Given the description of an element on the screen output the (x, y) to click on. 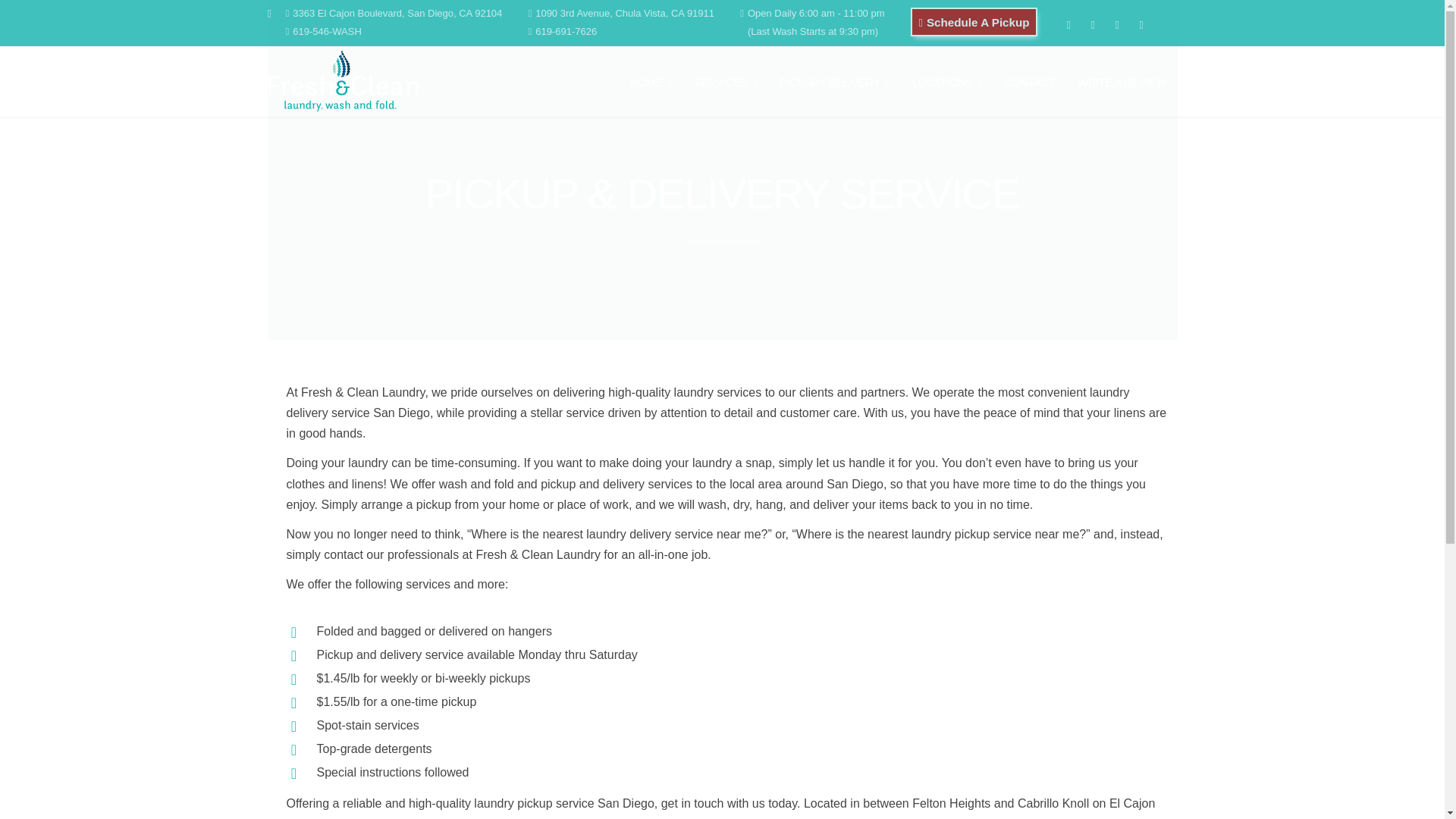
Schedule A Pickup (974, 21)
SERVICES (725, 80)
LOCATIONS (946, 80)
WRITE A REVIEW (1122, 80)
3363 El Cajon Boulevard, San Diego, CA 92104 (397, 12)
1090 3rd Avenue, Chula Vista, CA 91911 (624, 12)
linkedin (1123, 24)
CONTACT (1029, 80)
Instagram (1147, 24)
Yelp (1099, 24)
